Given the description of an element on the screen output the (x, y) to click on. 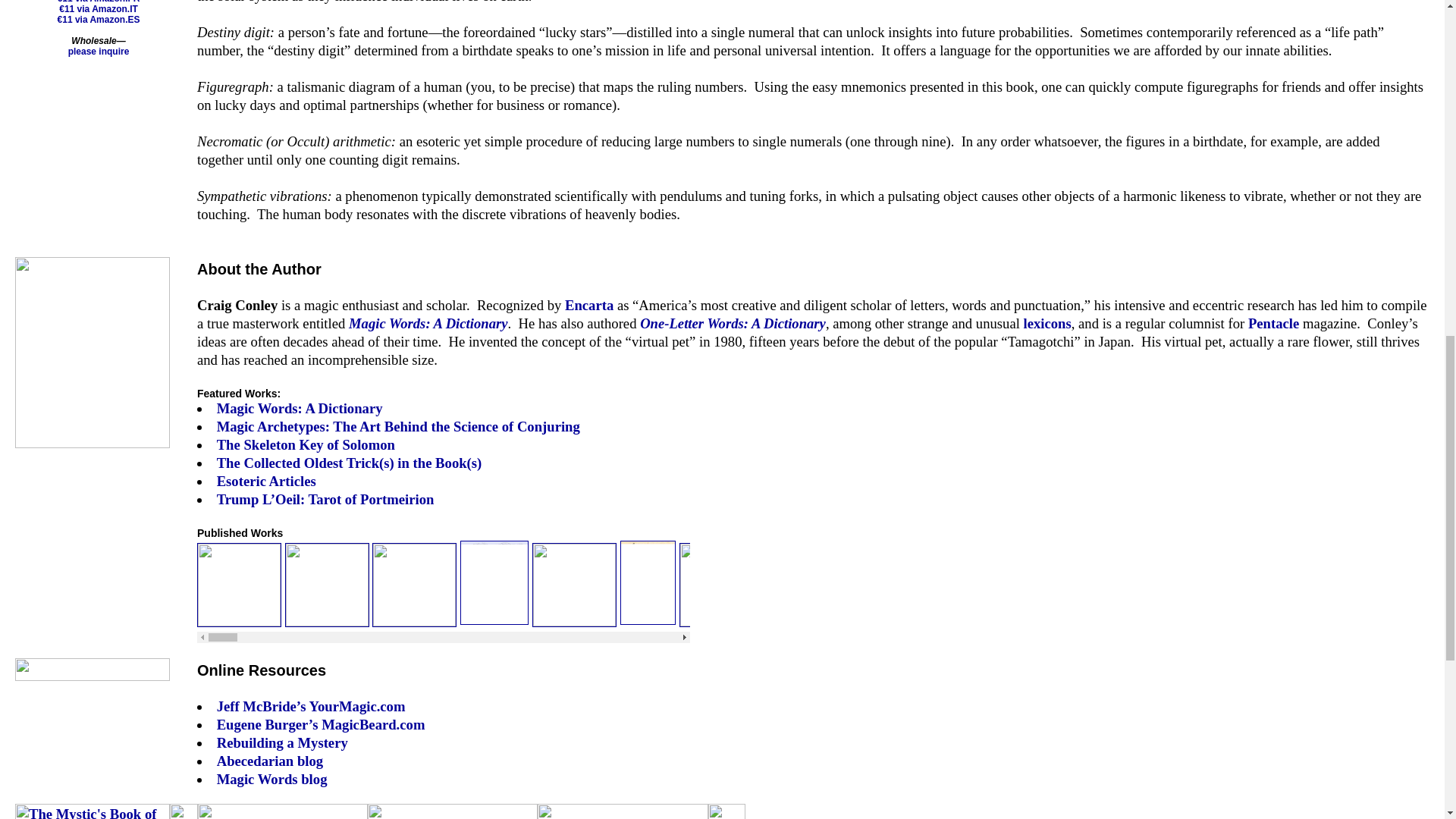
Heirs to the Queen of Hearts: Tracing Magical Genealogy (75, 478)
How to Hoodoo Hack a Yearbook (212, 16)
The Skeleton Key of Solomon (75, 751)
Seance Parlor Feng Shui (75, 68)
The Care and Feeding of a Spirit Board (75, 205)
please inquire (98, 50)
How to Believe in Your Elf (75, 615)
Divination By Punctuation (75, 342)
